Given the description of an element on the screen output the (x, y) to click on. 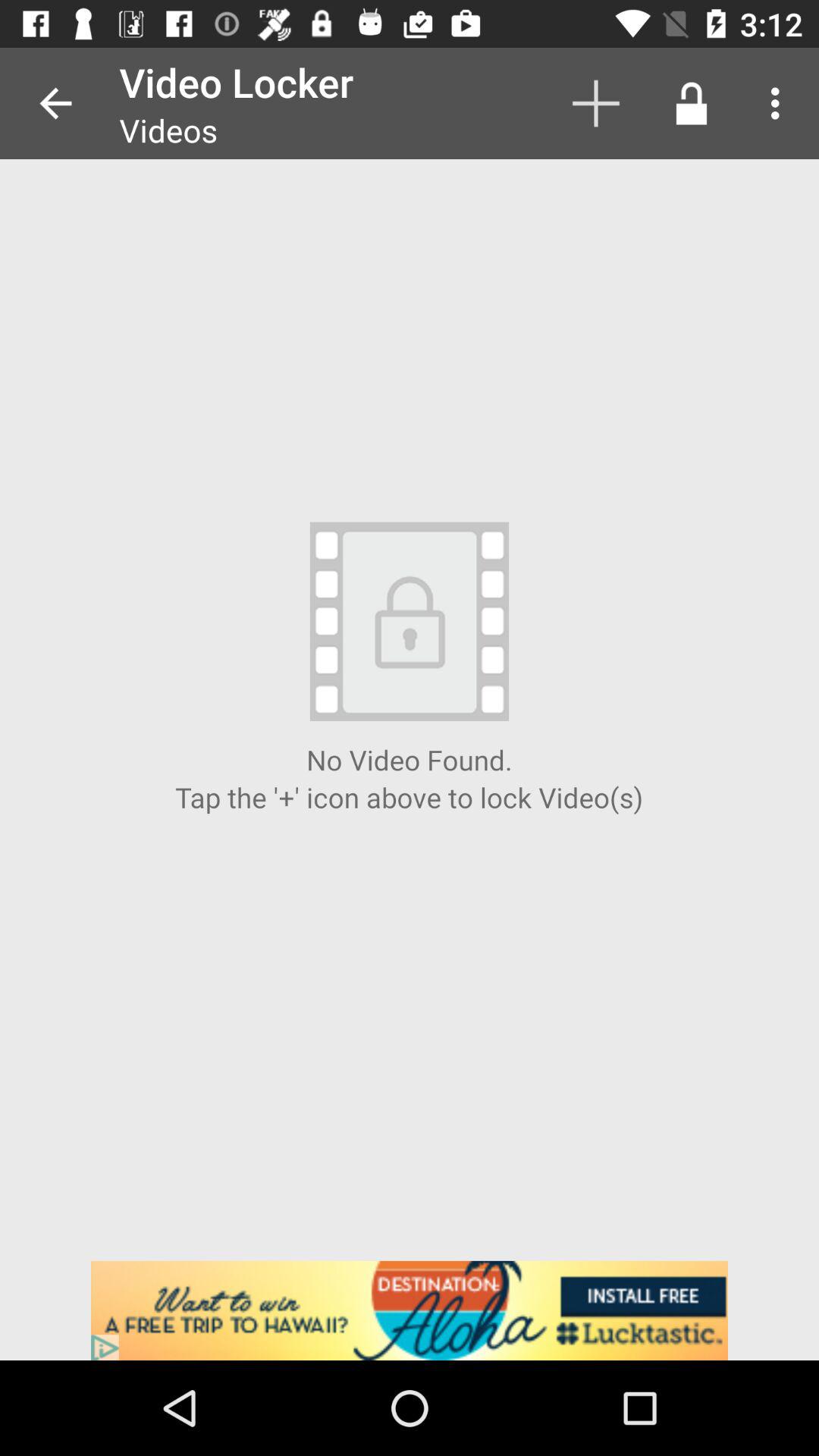
go to the lucktastic homepage (409, 1310)
